Given the description of an element on the screen output the (x, y) to click on. 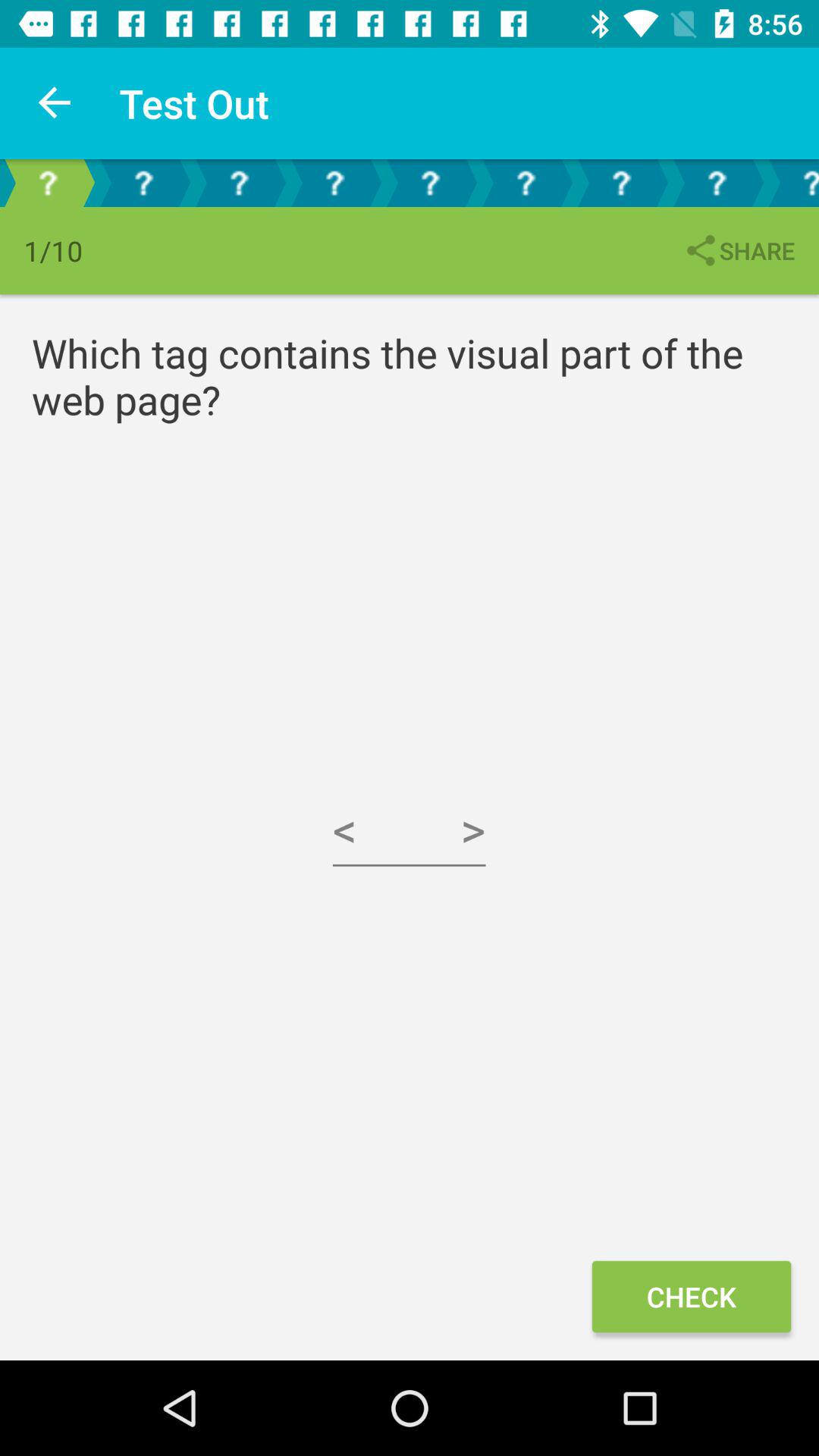
select the icon below the which tag contains icon (691, 1296)
